Given the description of an element on the screen output the (x, y) to click on. 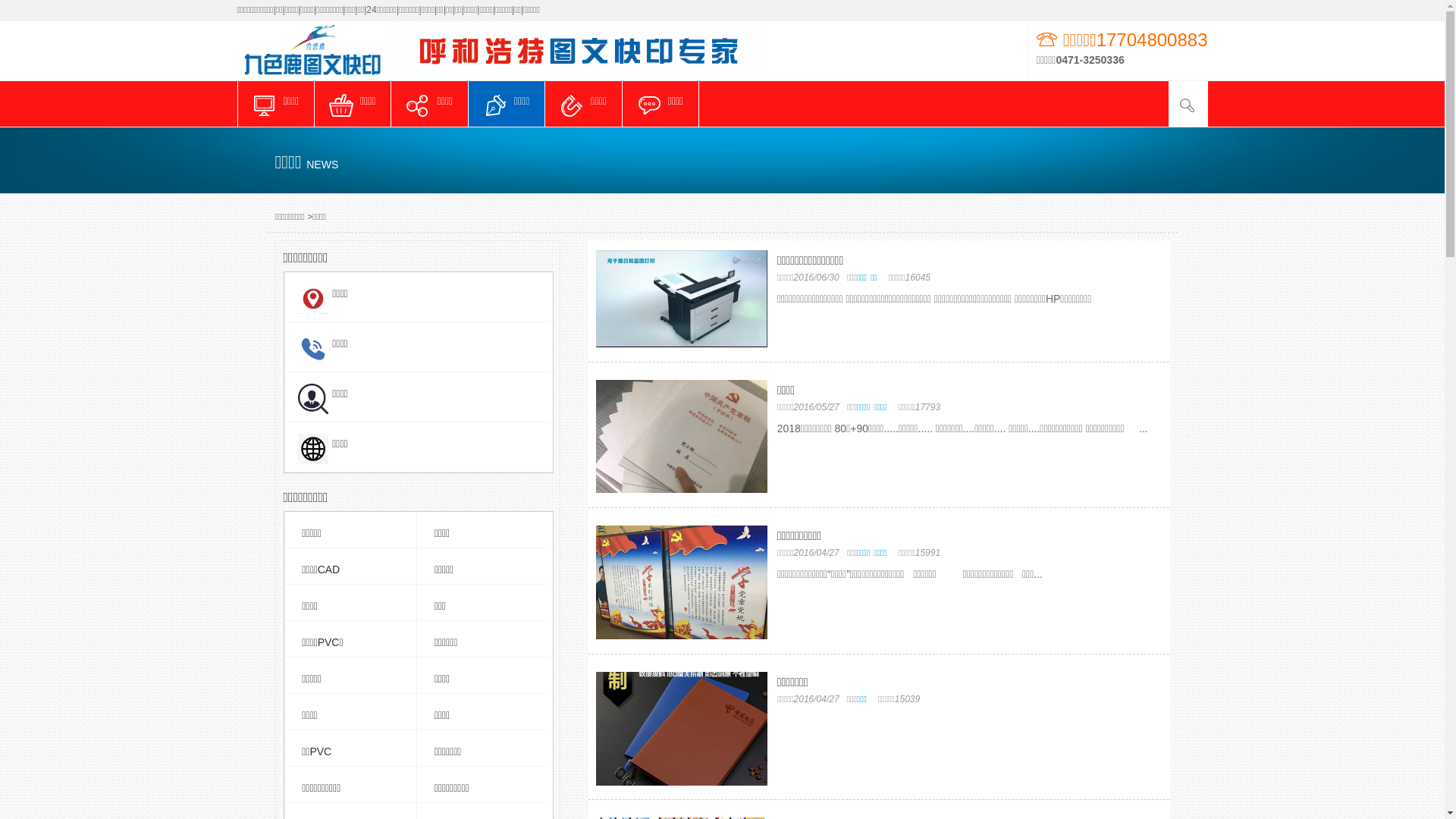
NEWS Element type: text (322, 164)
> Element type: text (308, 216)
